Given the description of an element on the screen output the (x, y) to click on. 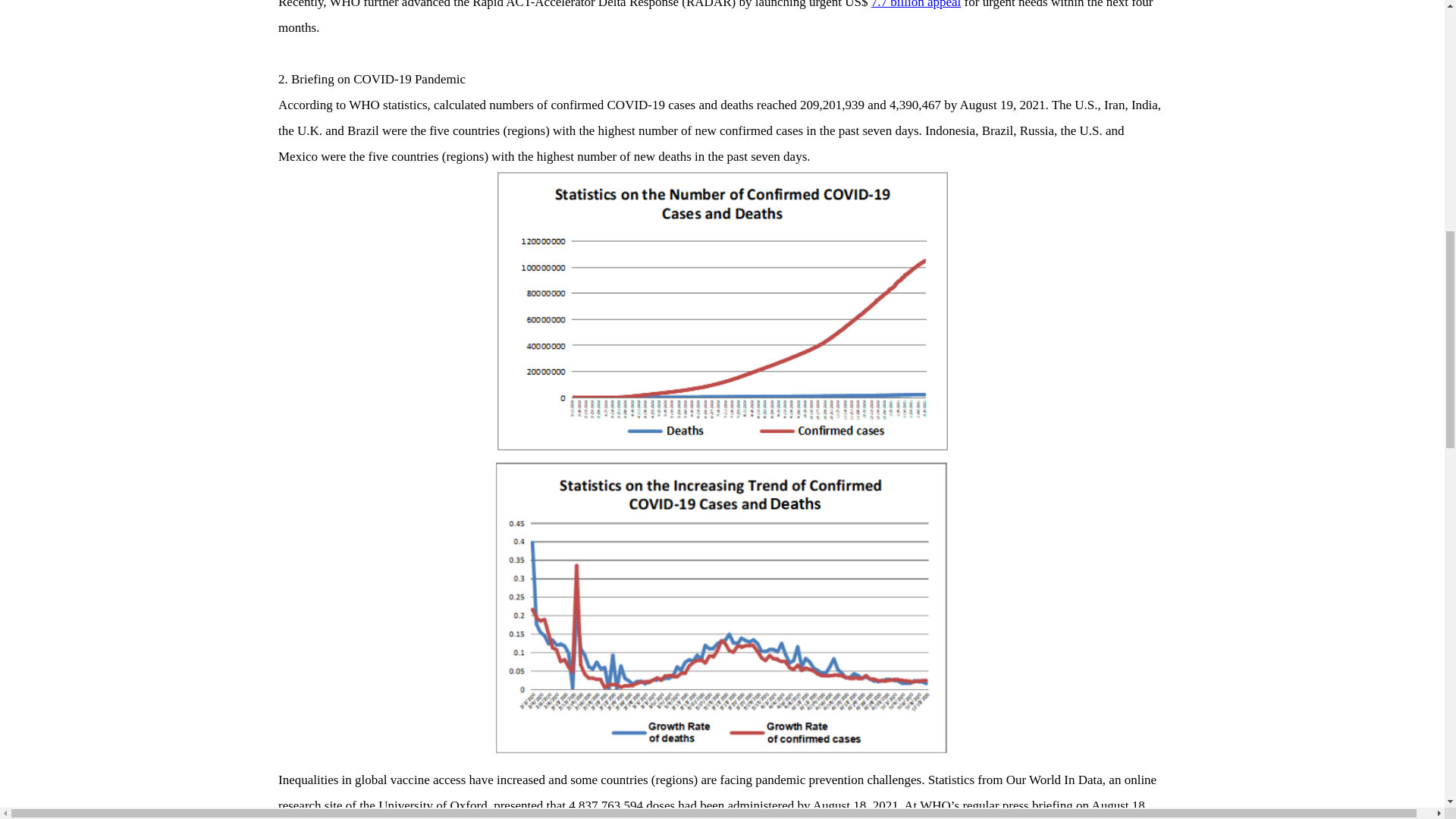
7.7 billion appeal (915, 4)
